Given the description of an element on the screen output the (x, y) to click on. 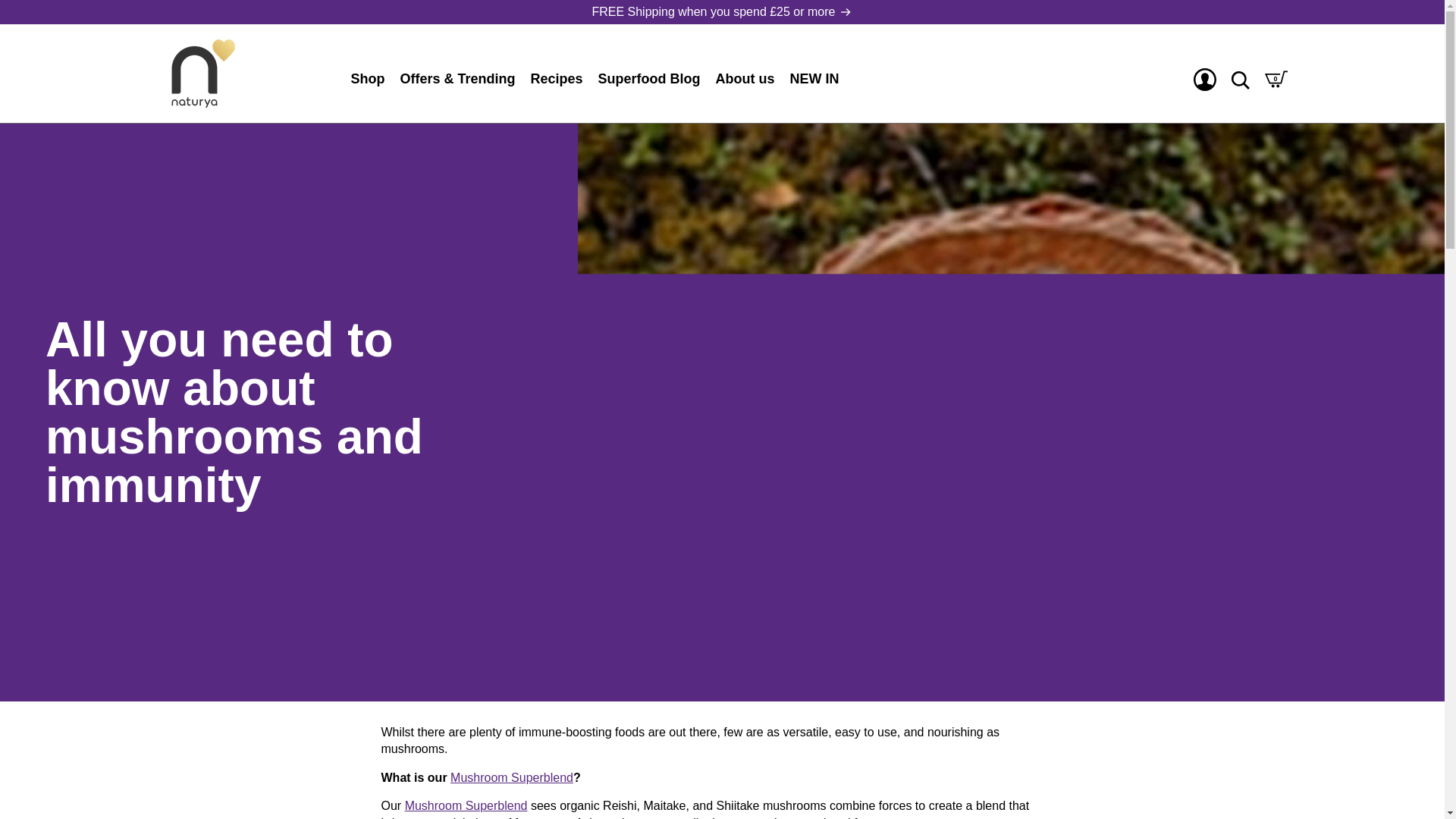
Shop (367, 78)
Account (1204, 78)
